Given the description of an element on the screen output the (x, y) to click on. 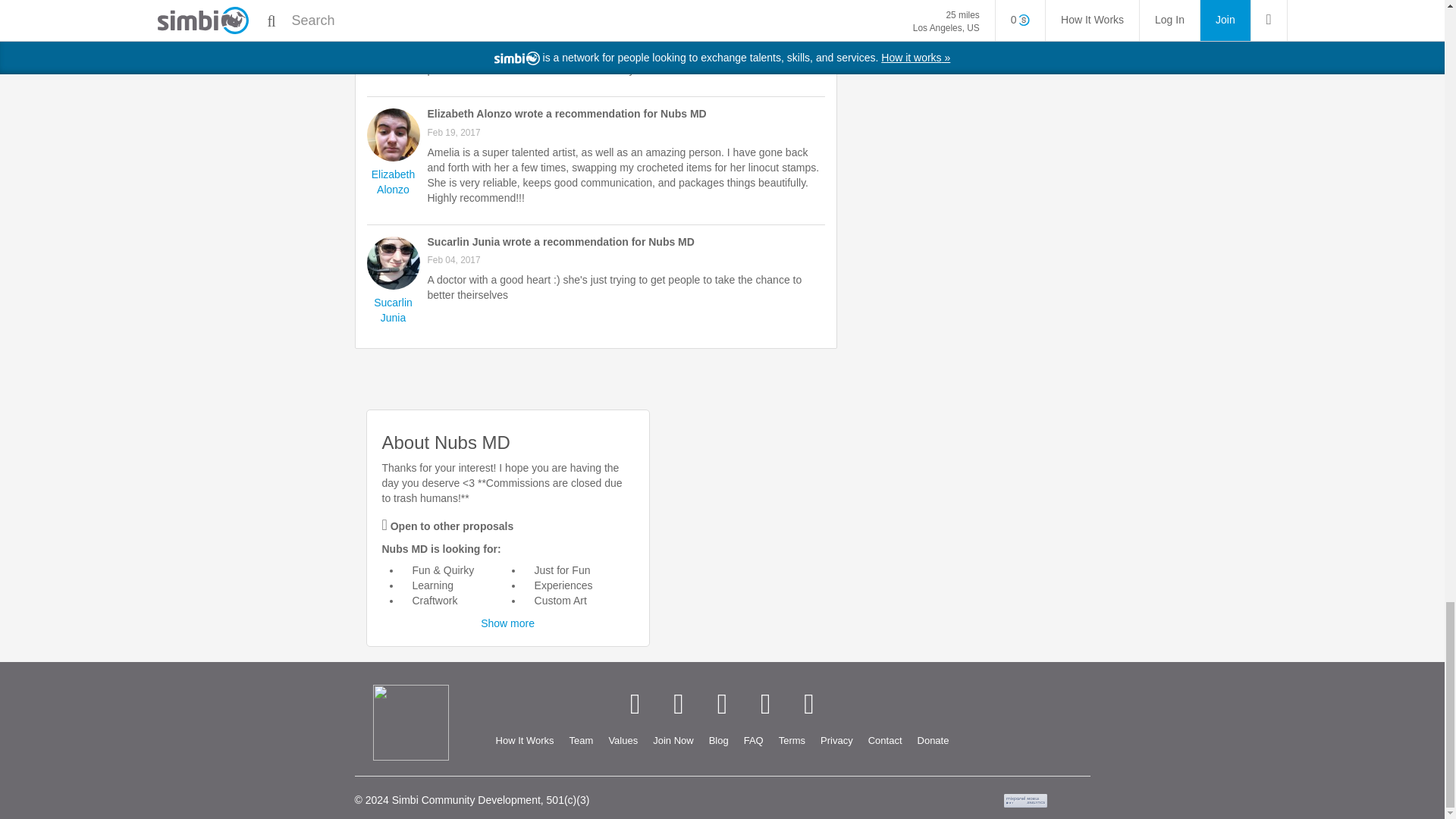
How it works (524, 740)
Join (672, 740)
Blog (718, 740)
Facebook (634, 704)
Terms (791, 740)
Contact (885, 740)
Donate (933, 740)
Values (622, 740)
Instagram (765, 704)
Linkedin (722, 704)
FAQ (753, 740)
Email (808, 704)
Team (581, 740)
Privacy (836, 740)
Twitter (678, 704)
